Given the description of an element on the screen output the (x, y) to click on. 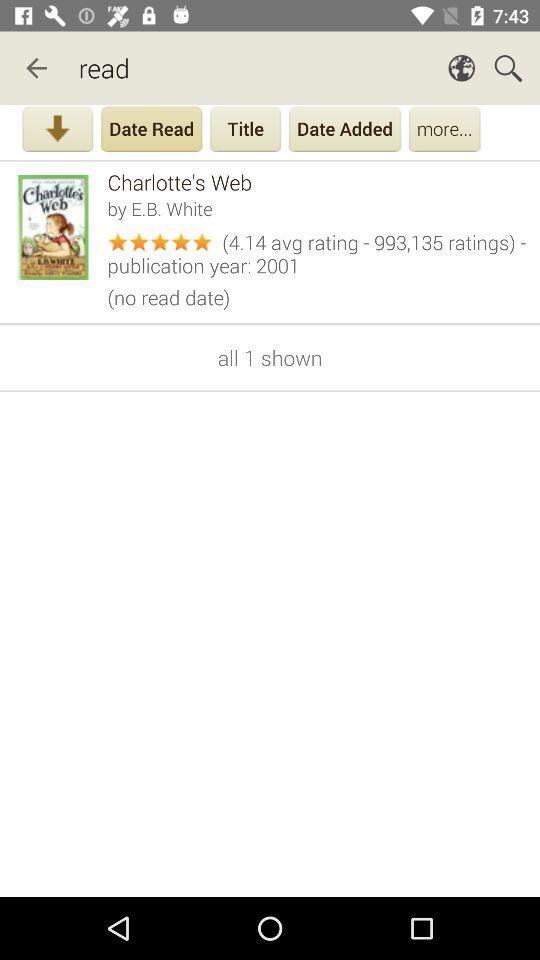
tap title (245, 131)
